Given the description of an element on the screen output the (x, y) to click on. 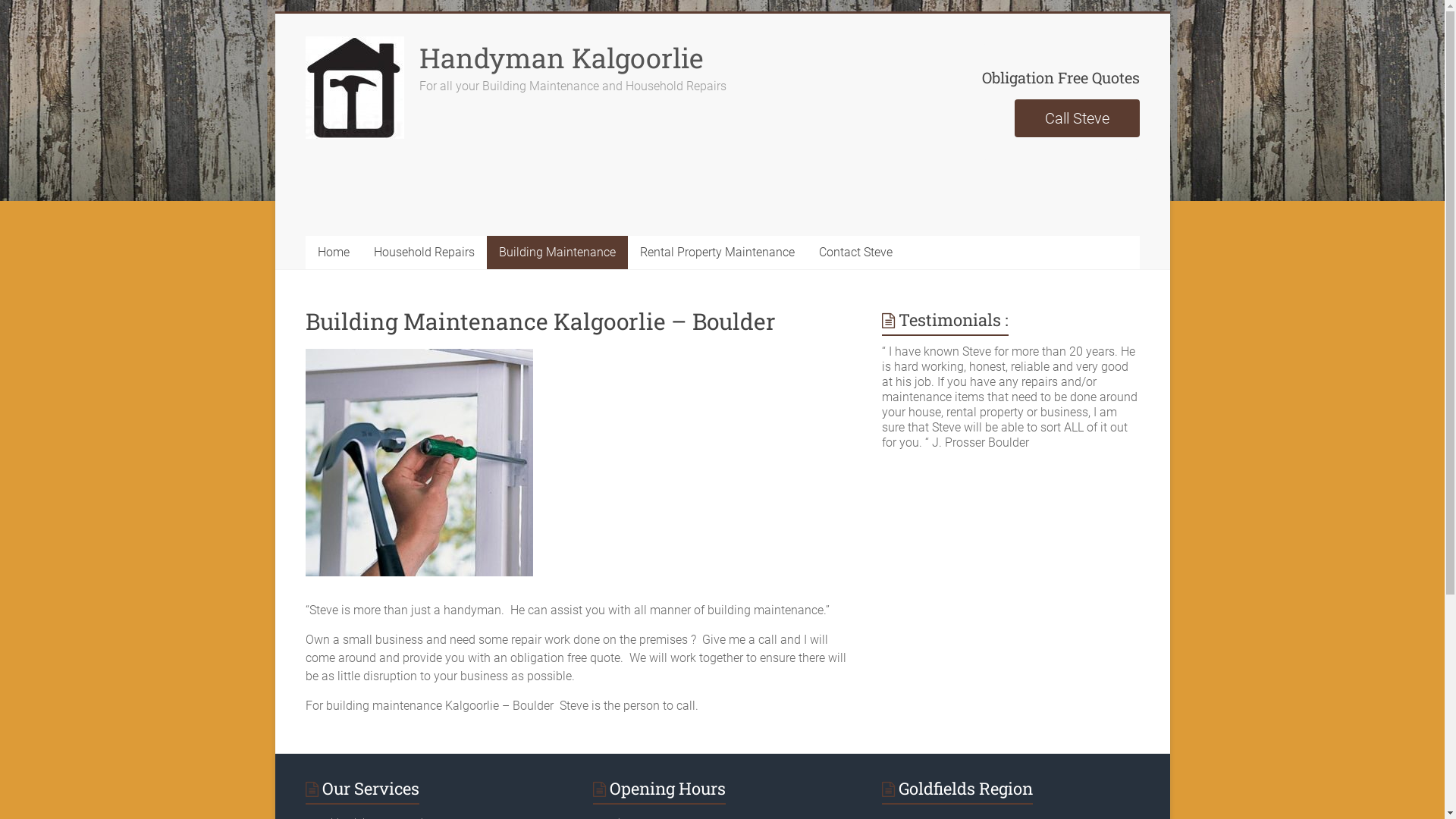
Contact Steve Element type: text (855, 252)
Household Repairs Element type: text (423, 252)
Rental Property Maintenance Element type: text (716, 252)
Handyman Kalgoorlie Element type: text (560, 57)
Building Maintenance Element type: text (556, 252)
Call Steve Element type: text (1076, 118)
Home Element type: text (332, 252)
